Given the description of an element on the screen output the (x, y) to click on. 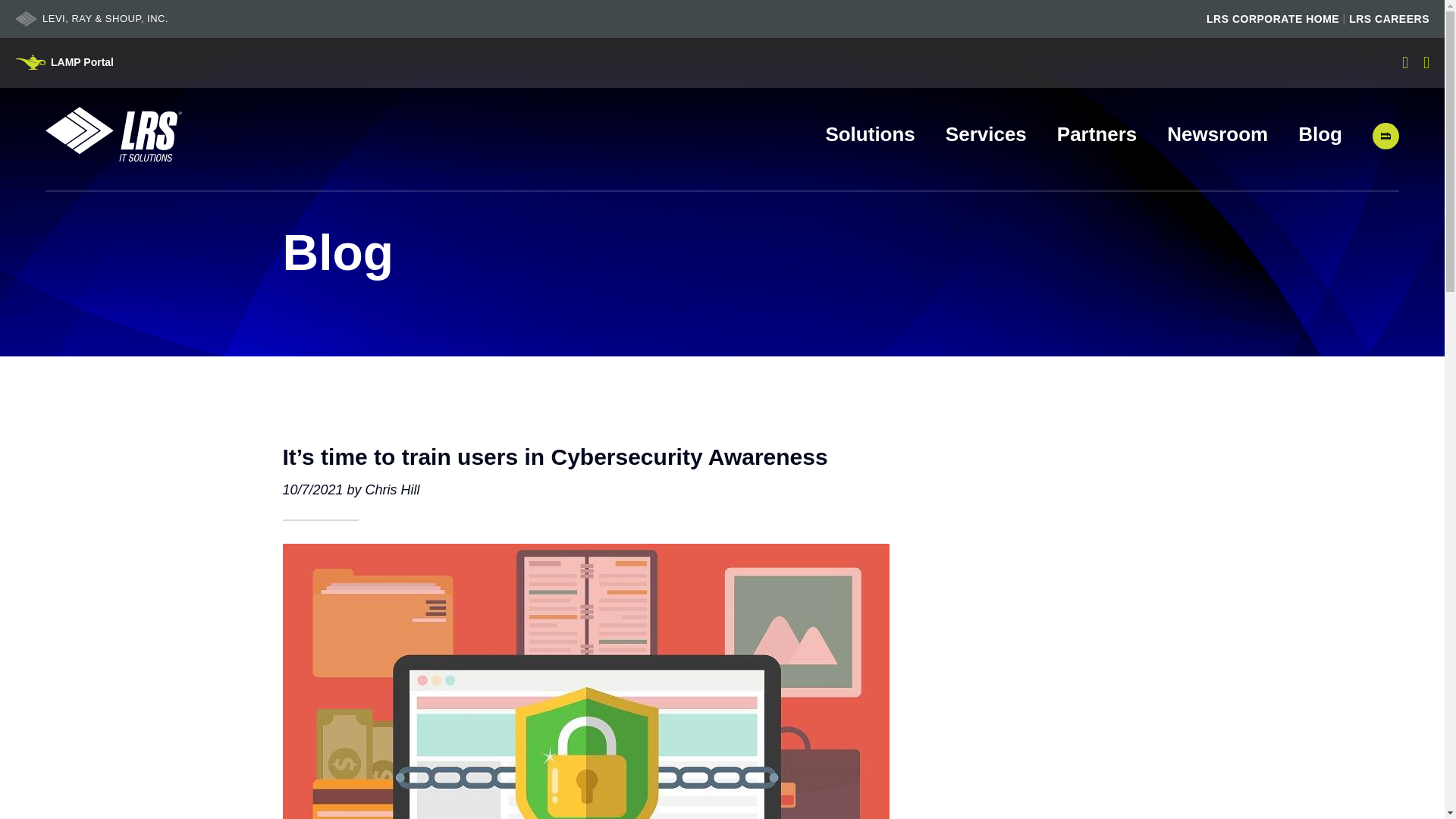
Blog (1320, 135)
LRS IT Solutions linkedin account (1426, 62)
LRS CORPORATE HOME (1273, 19)
Newsroom (1217, 135)
Partners (1097, 135)
Follow us on linkedin (1426, 62)
LRS IT Solutions x-twitter account (1404, 62)
LAMP Portal (63, 62)
Solutions (869, 135)
Follow us on x-twitter (1404, 62)
LRS CAREERS (1389, 19)
Go to LRS IT Solutions Homepage (113, 134)
Services (985, 135)
